Given the description of an element on the screen output the (x, y) to click on. 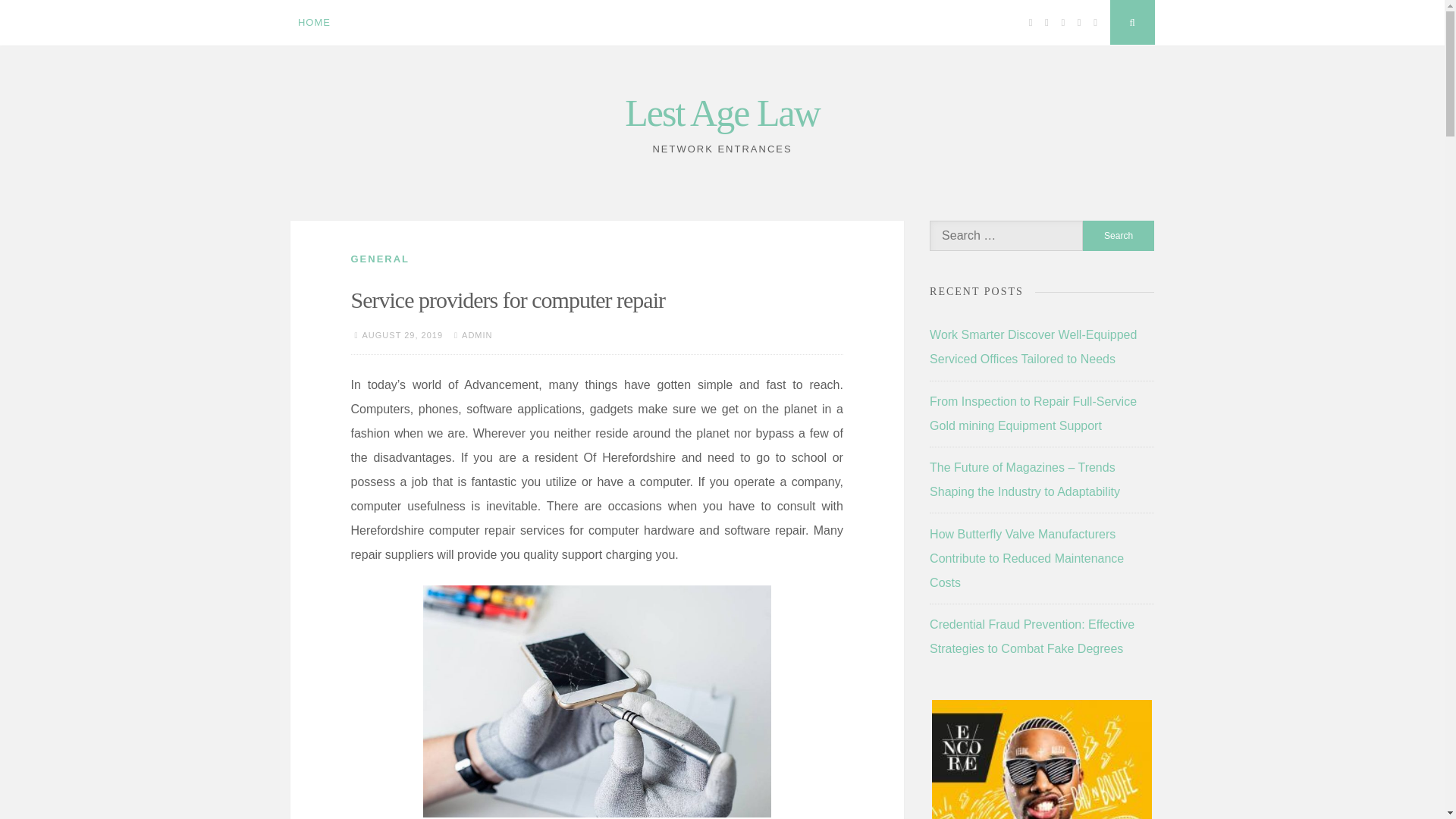
AUGUST 29, 2019 (403, 334)
HOME (313, 22)
Search (1118, 235)
ADMIN (476, 334)
Search (1118, 235)
Search (1118, 235)
GENERAL (379, 258)
